Given the description of an element on the screen output the (x, y) to click on. 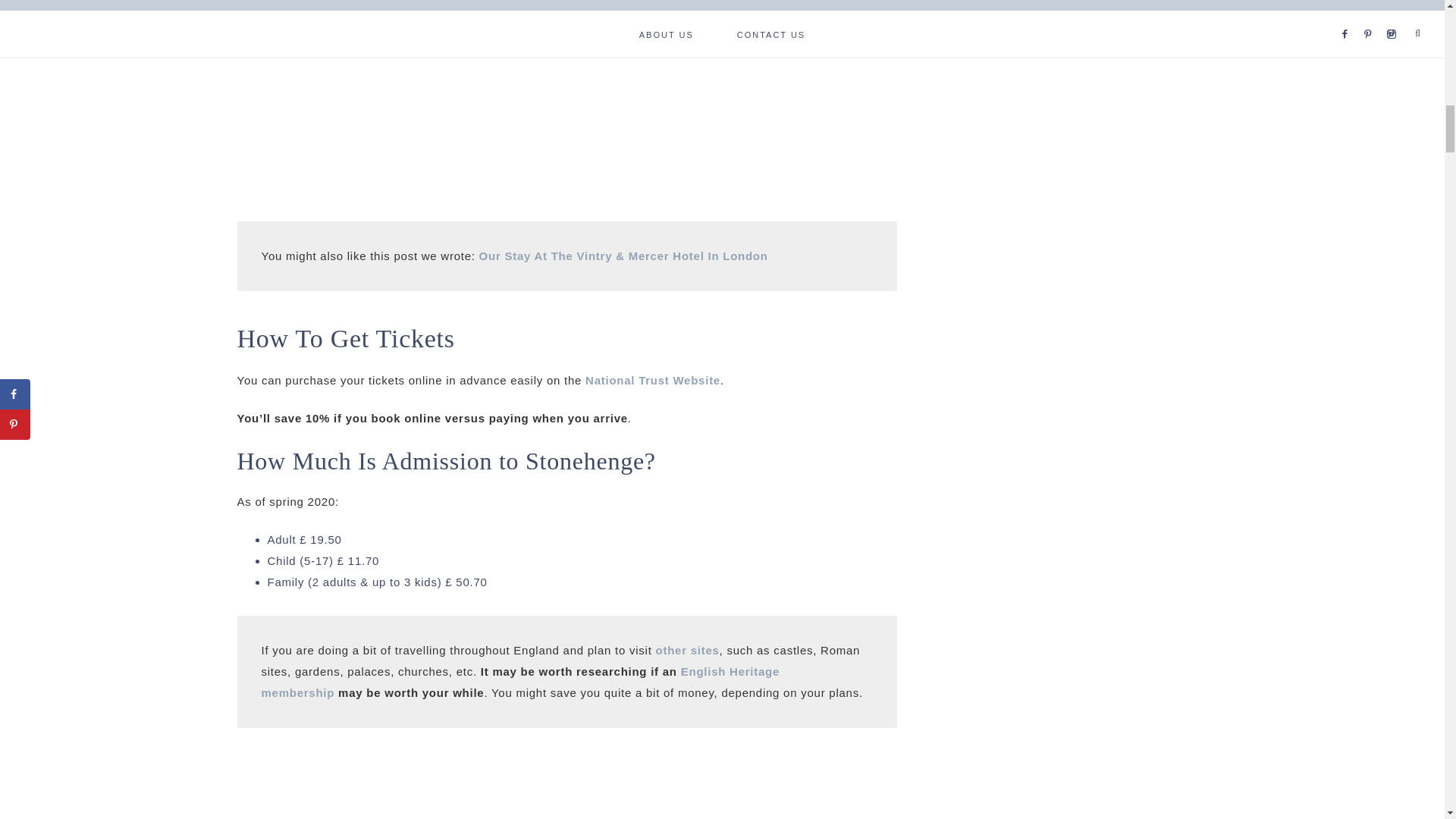
other sites (687, 649)
National Trust Website (652, 379)
English Heritage membership (519, 682)
